Given the description of an element on the screen output the (x, y) to click on. 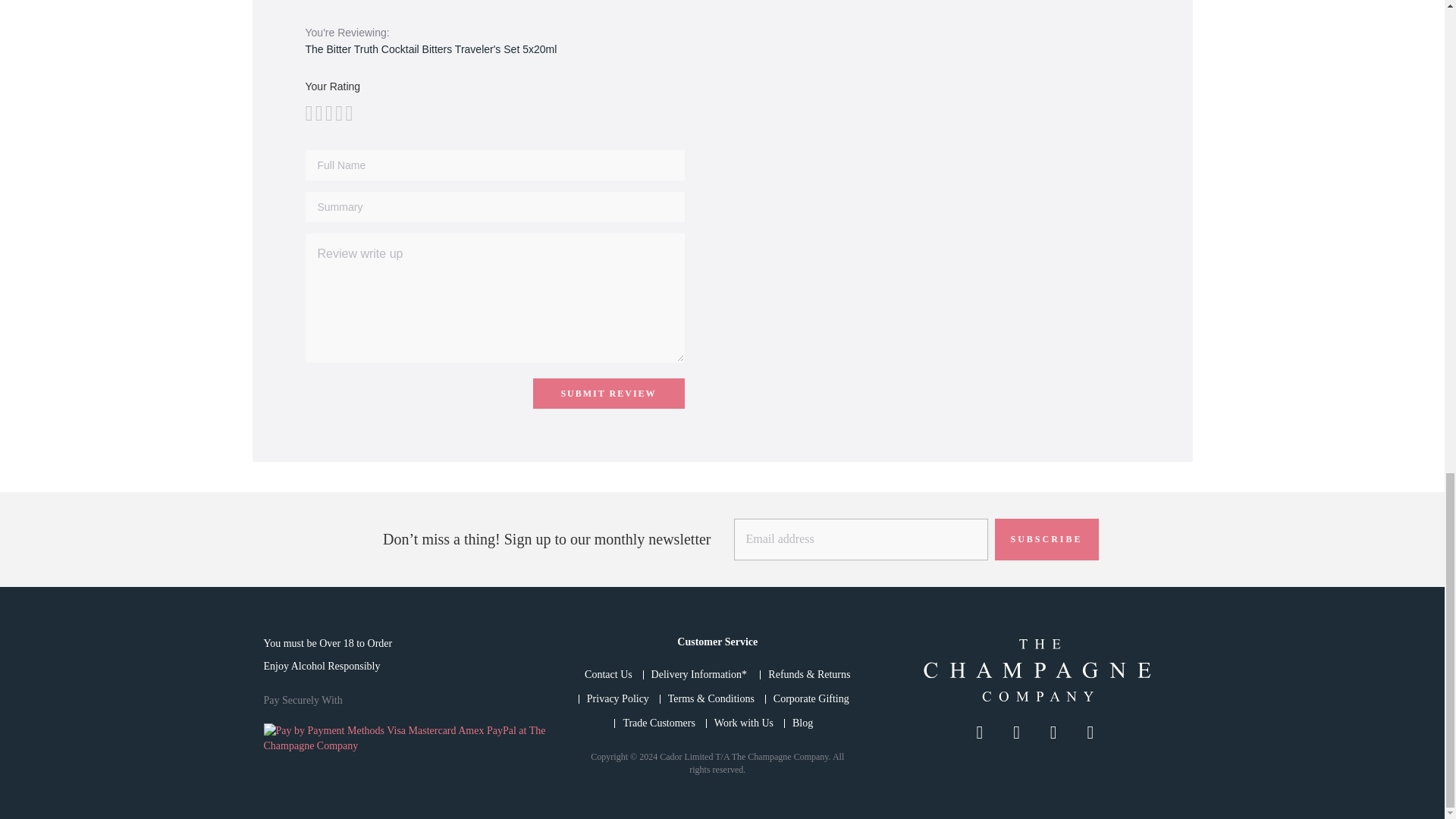
5 stars (328, 113)
3 stars (318, 113)
4 stars (323, 113)
Payment Methods at The Champagne Company (407, 745)
Subscribe (1046, 539)
Trade Customers (659, 722)
Payment Methods at The Champagne Company (407, 738)
